Given the description of an element on the screen output the (x, y) to click on. 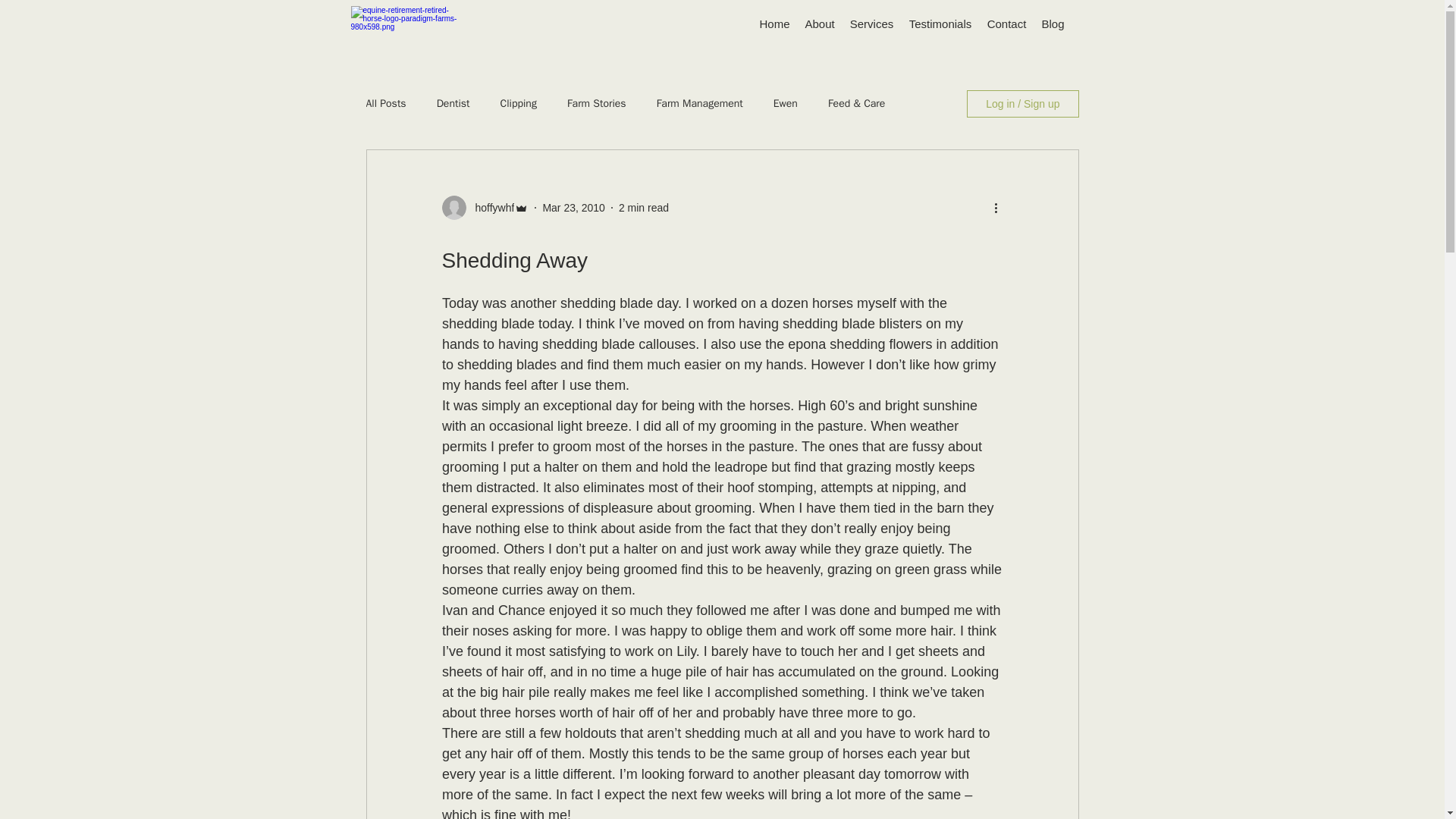
All Posts (385, 103)
hoffywhf (489, 207)
Home (774, 24)
Testimonials (939, 24)
Contact (1006, 24)
Ewen (785, 103)
Clipping (518, 103)
2 min read (643, 207)
Services (871, 24)
Farm Stories (596, 103)
